Given the description of an element on the screen output the (x, y) to click on. 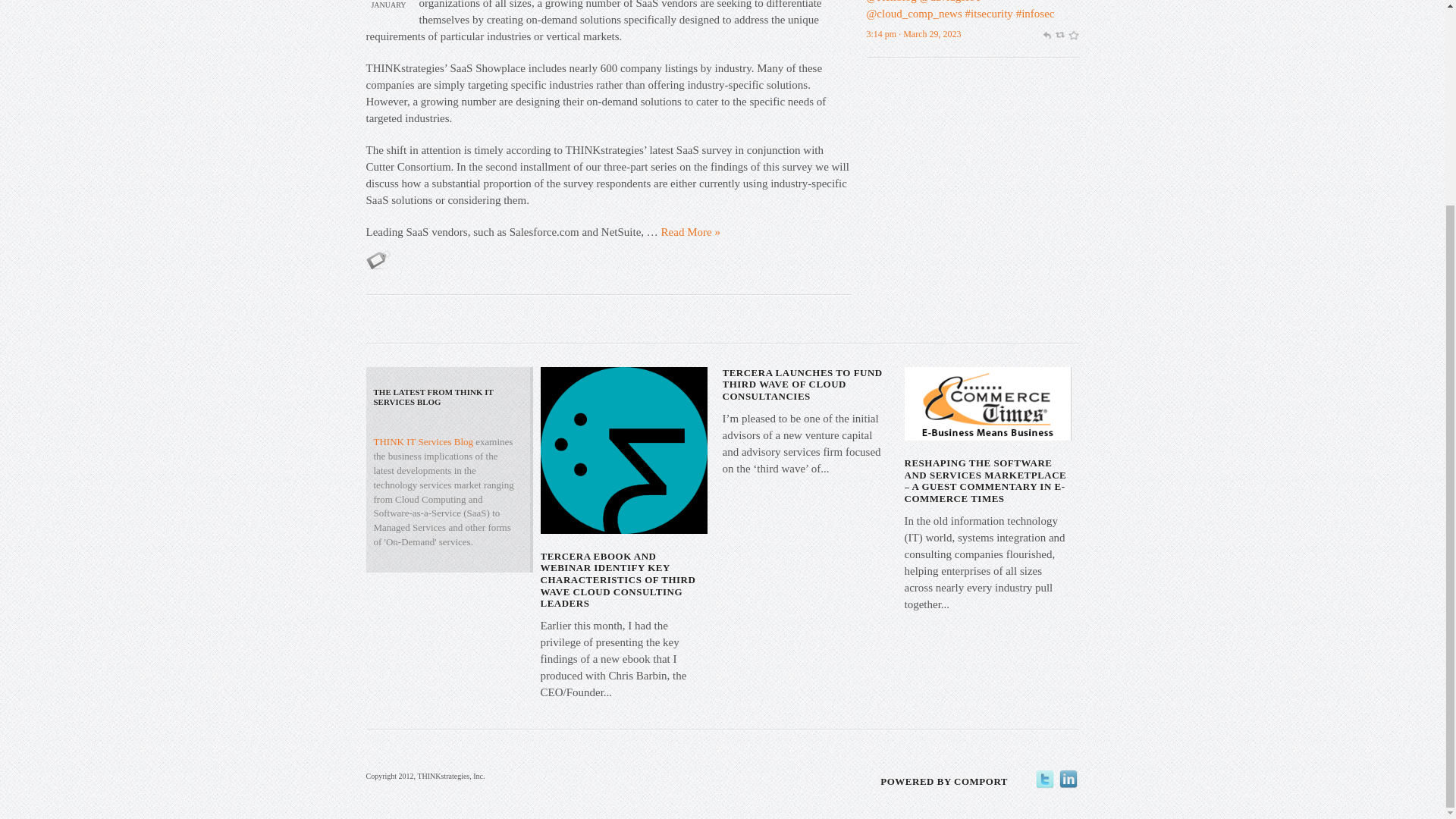
reply (1046, 33)
Cloud Tech News (913, 13)
Dave Kellogg (890, 1)
